Given the description of an element on the screen output the (x, y) to click on. 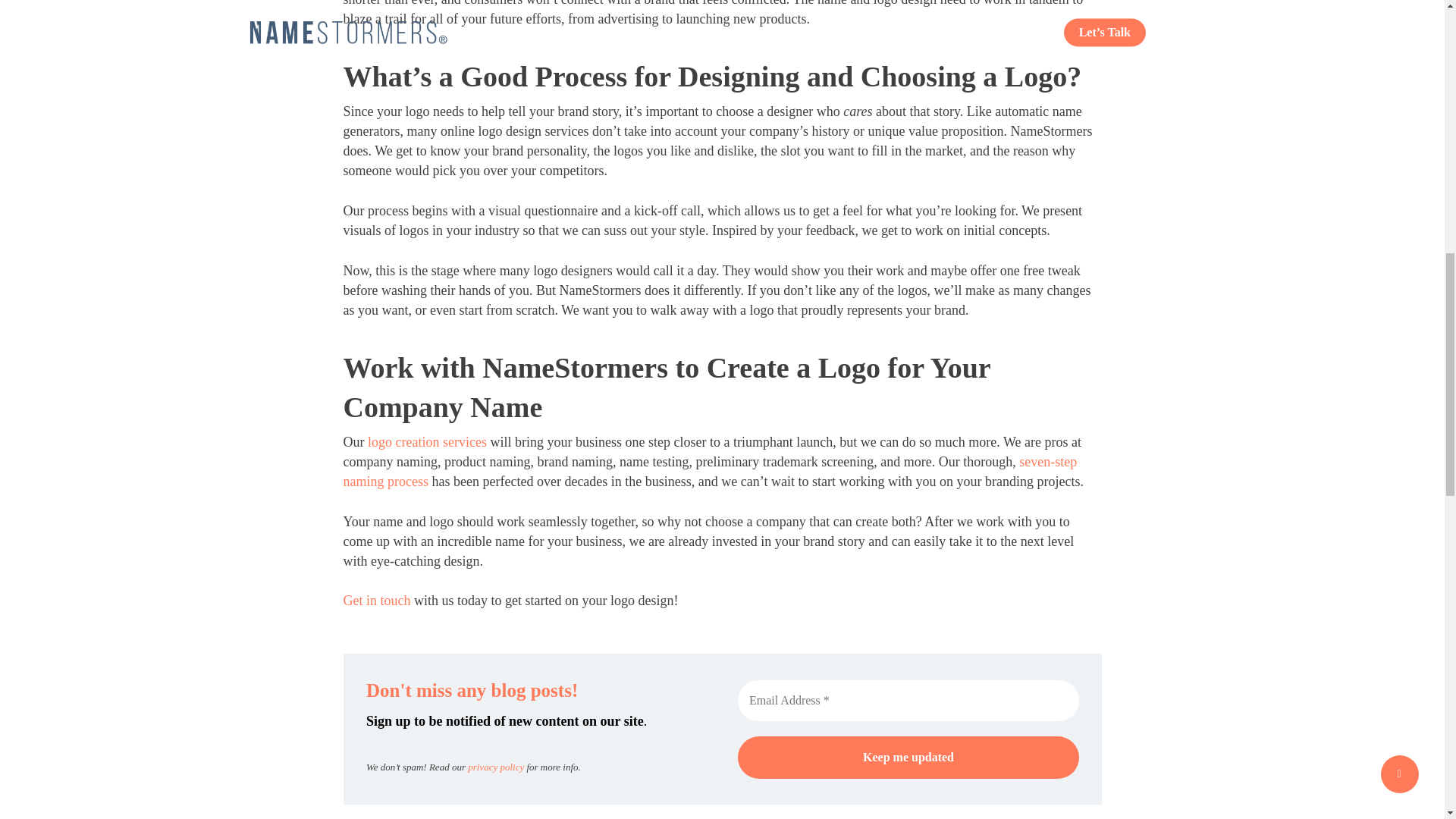
Keep me updated (907, 756)
Keep me updated (907, 756)
privacy policy (496, 767)
seven-step naming process (709, 471)
Get in touch (411, 619)
Email Address (907, 699)
logo creation services (427, 441)
